Given the description of an element on the screen output the (x, y) to click on. 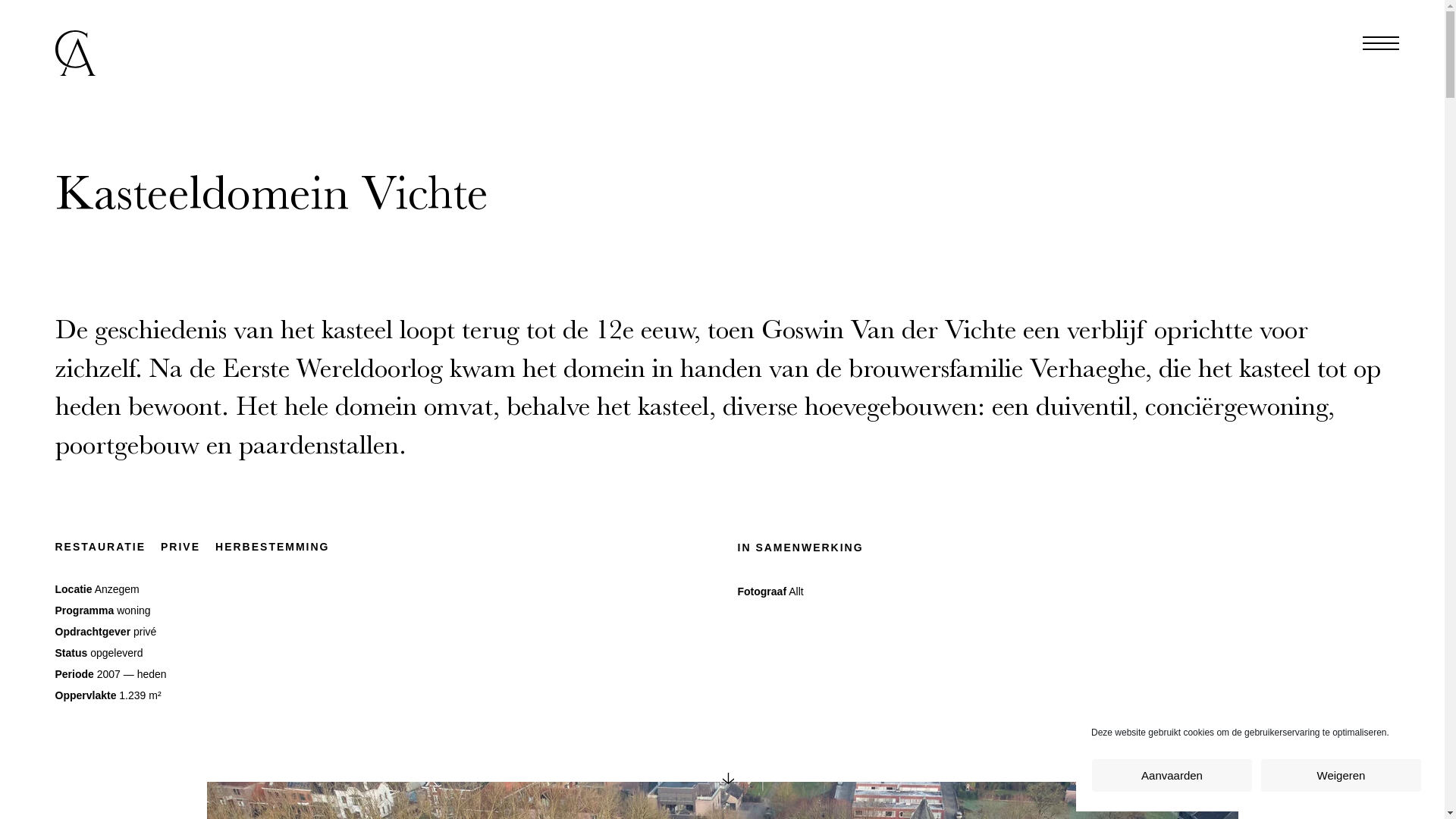
HERBESTEMMING Element type: text (272, 546)
RESTAURATIE Element type: text (99, 546)
Weigeren Element type: text (1340, 775)
Aanvaarden Element type: text (1171, 775)
PRIVE Element type: text (180, 546)
